Given the description of an element on the screen output the (x, y) to click on. 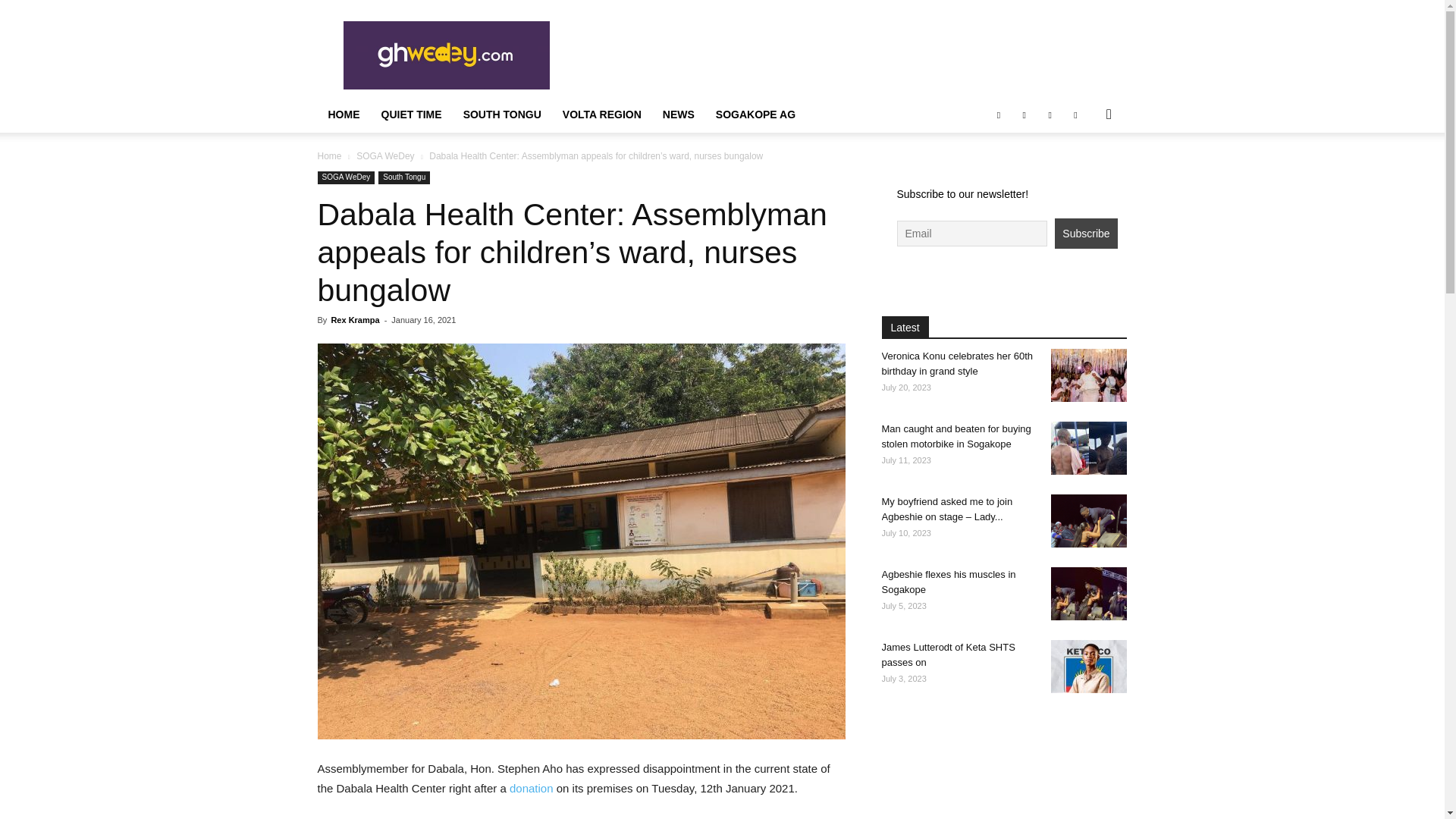
Subscribe (1085, 233)
QUIET TIME (410, 114)
SOGAKOPE AG (755, 114)
HOME (343, 114)
Rex Krampa (354, 319)
View all posts in SOGA WeDey (384, 155)
VOLTA REGION (601, 114)
SOGA WeDey (384, 155)
Advertisement (850, 55)
South Tongu (403, 177)
NEWS (678, 114)
Search (1085, 174)
Home (328, 155)
SOUTH TONGU (501, 114)
